Given the description of an element on the screen output the (x, y) to click on. 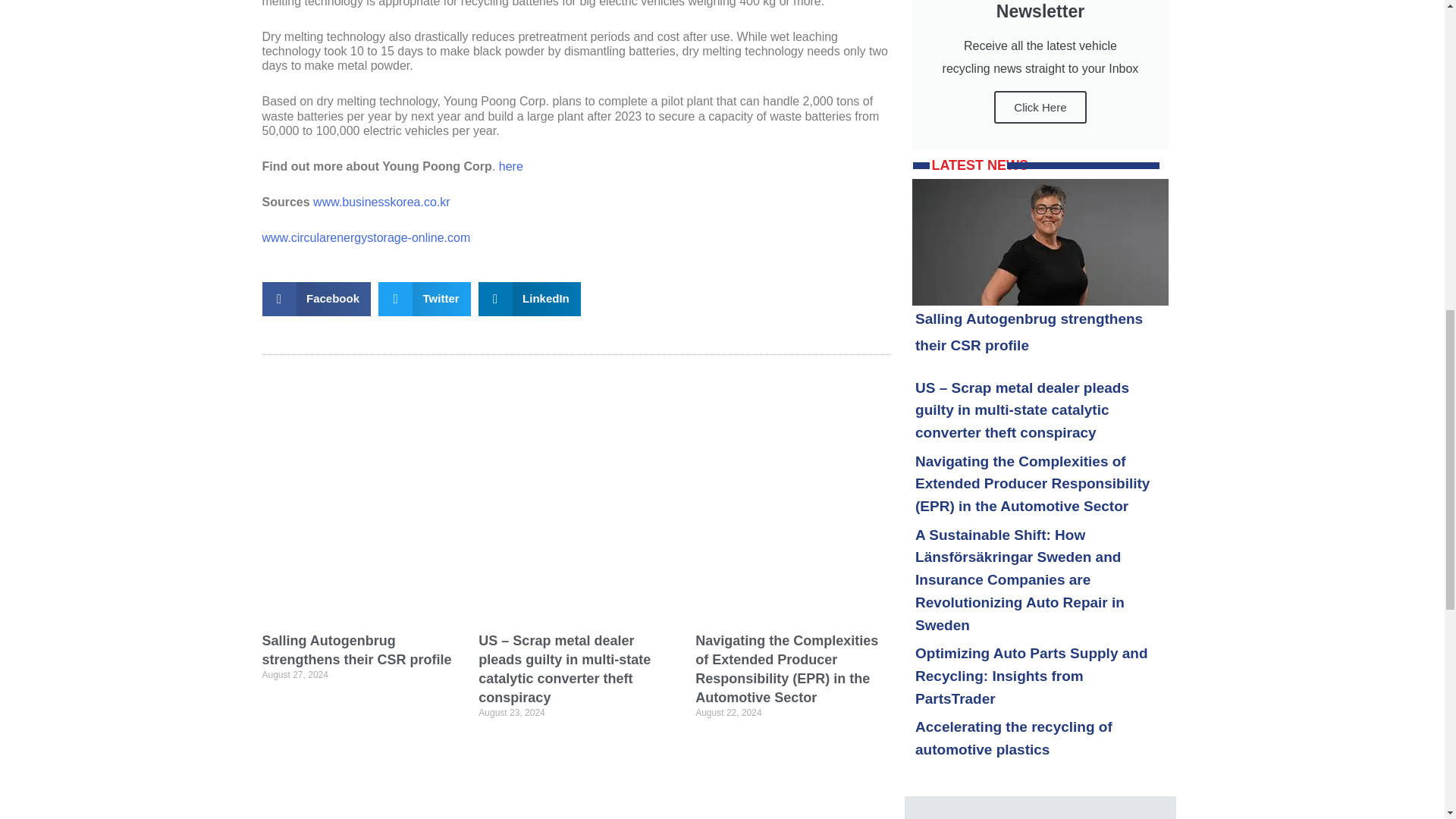
Accelerating the recycling of automotive plastics (1013, 738)
Salling Autogenbrug strengthens their CSR profile (1028, 331)
www.circularenergystorage-online.com (366, 237)
Salling Autogenbrug strengthens their CSR profile (356, 650)
www.businesskorea.co.kr (381, 201)
here (510, 165)
